Given the description of an element on the screen output the (x, y) to click on. 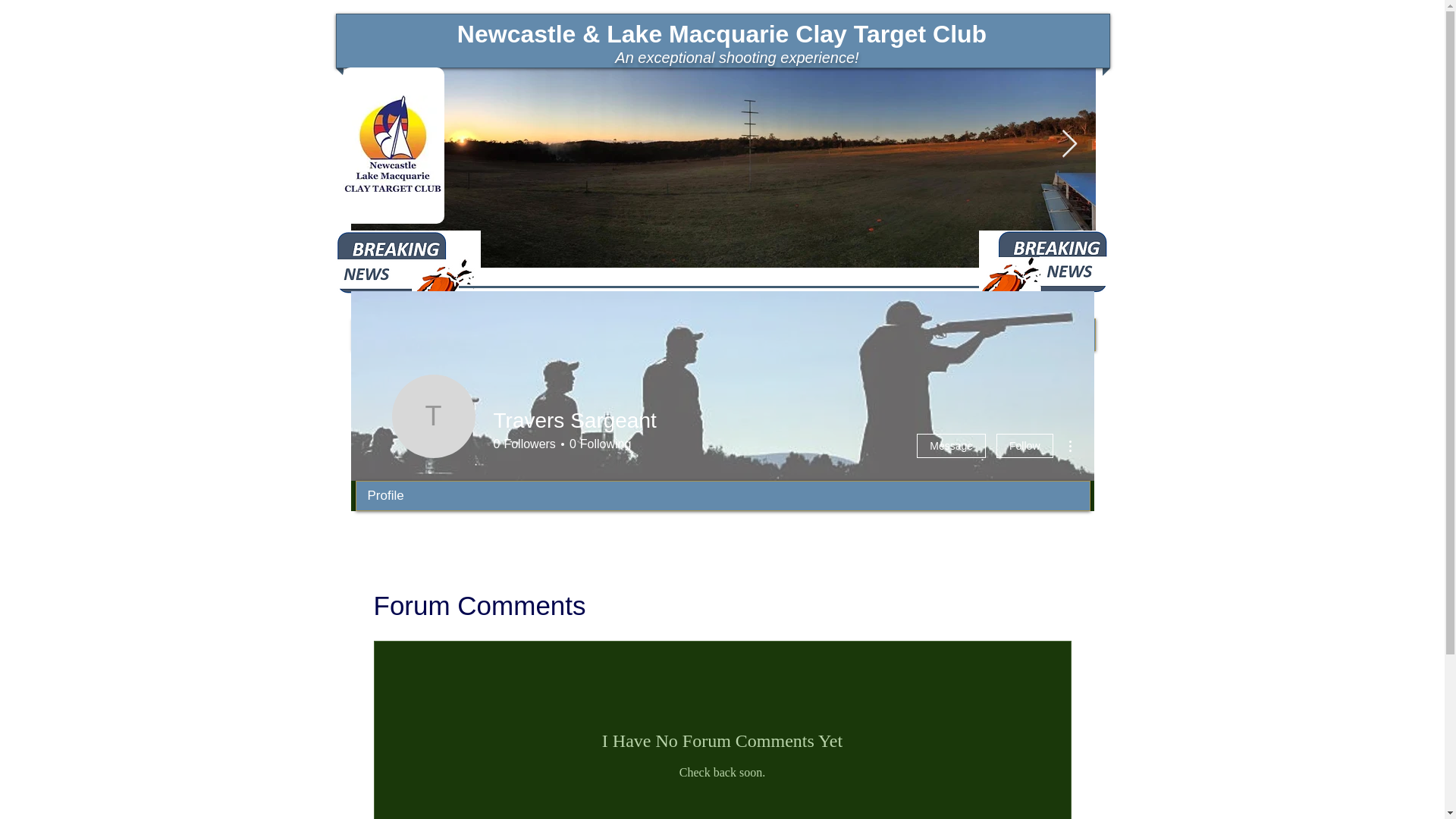
Calendar & Events Element type: text (724, 334)
Make a Booking Element type: text (1020, 334)
0
Following Element type: text (597, 443)
0
Followers Element type: text (523, 443)
Message Element type: text (950, 445)
nlmctclogo4.jpg Element type: hover (393, 143)
breakingnews5.png Element type: hover (1044, 270)
Membership Element type: text (576, 334)
Home Element type: text (427, 334)
Follow Element type: text (1024, 445)
Profile Element type: text (385, 495)
breakingnews4.png Element type: hover (404, 270)
Contact Us Element type: text (873, 334)
